Given the description of an element on the screen output the (x, y) to click on. 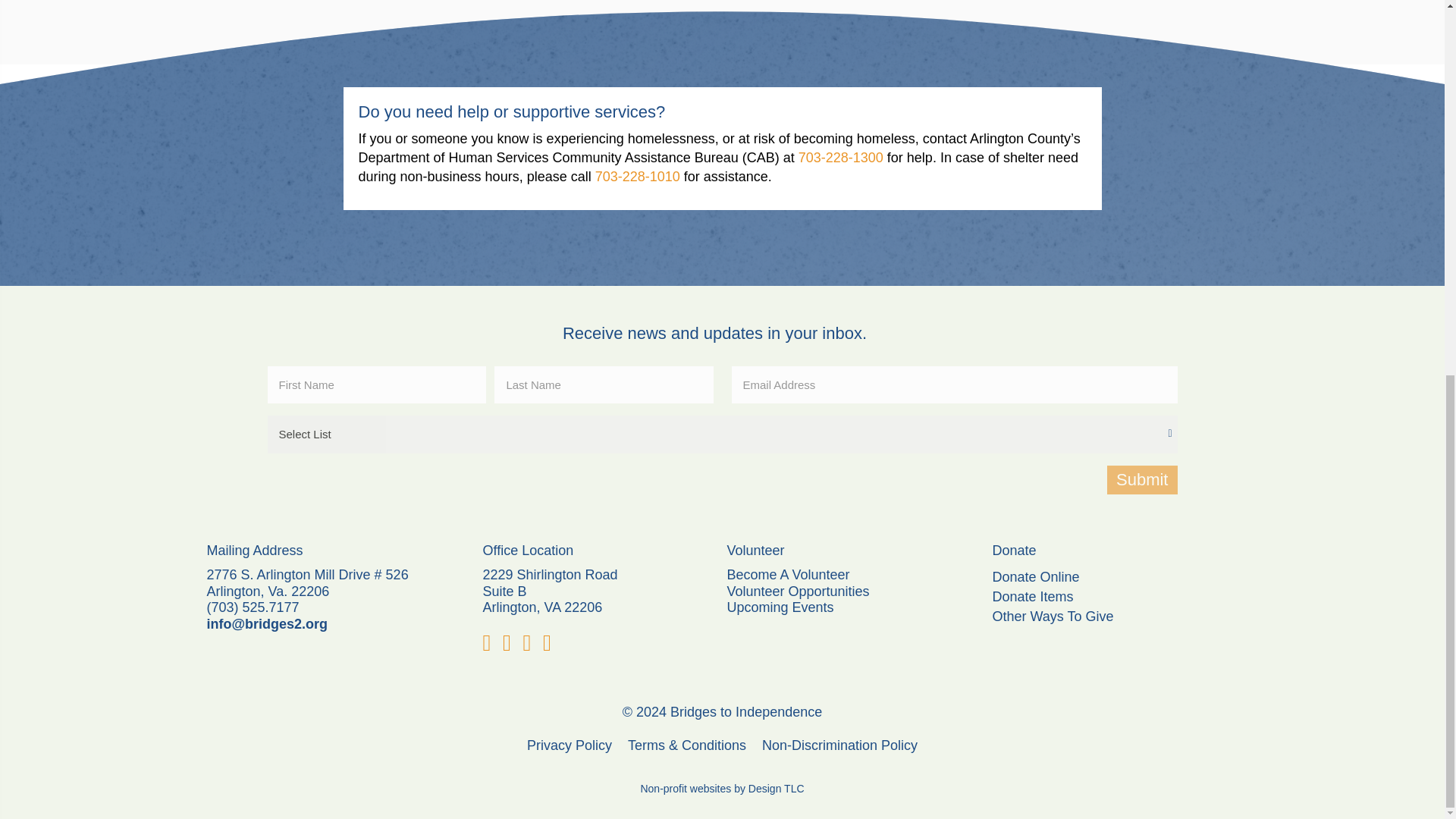
Submit (1141, 480)
